Given the description of an element on the screen output the (x, y) to click on. 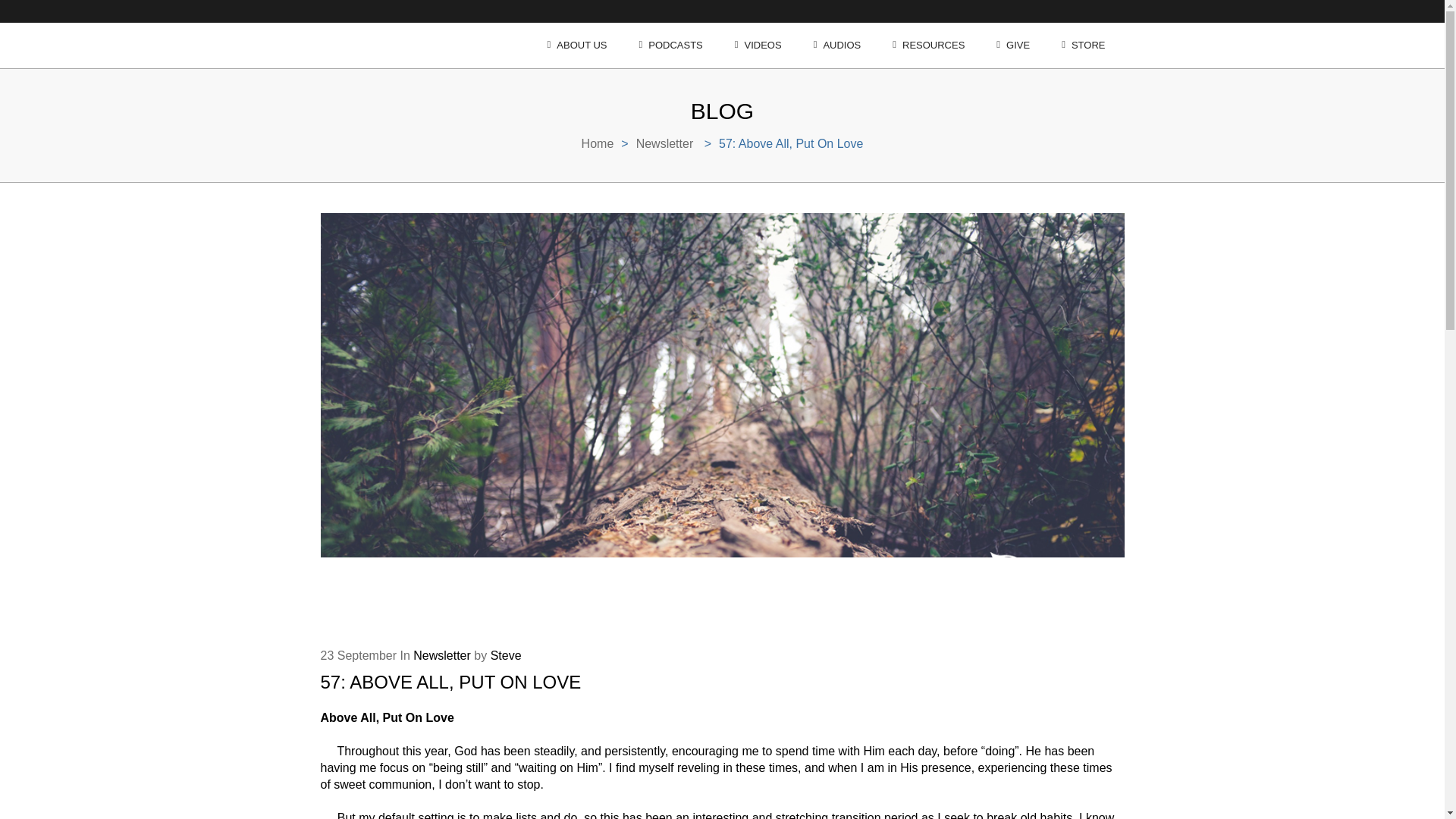
RESOURCES (931, 44)
STORE (1086, 44)
ABOUT US (580, 44)
GIVE (1016, 44)
PODCASTS (674, 44)
VIDEOS (761, 44)
AUDIOS (840, 44)
